Given the description of an element on the screen output the (x, y) to click on. 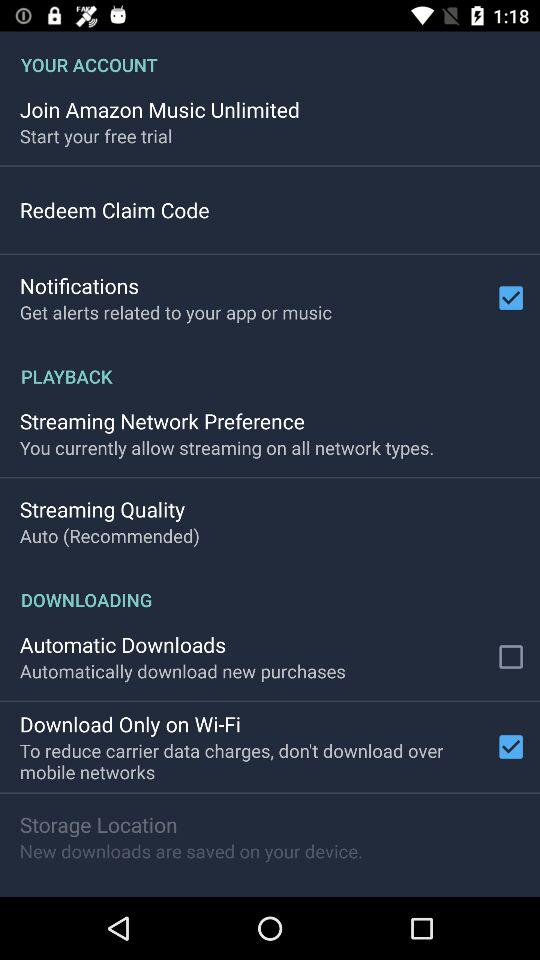
click app above the get alerts related icon (79, 285)
